Given the description of an element on the screen output the (x, y) to click on. 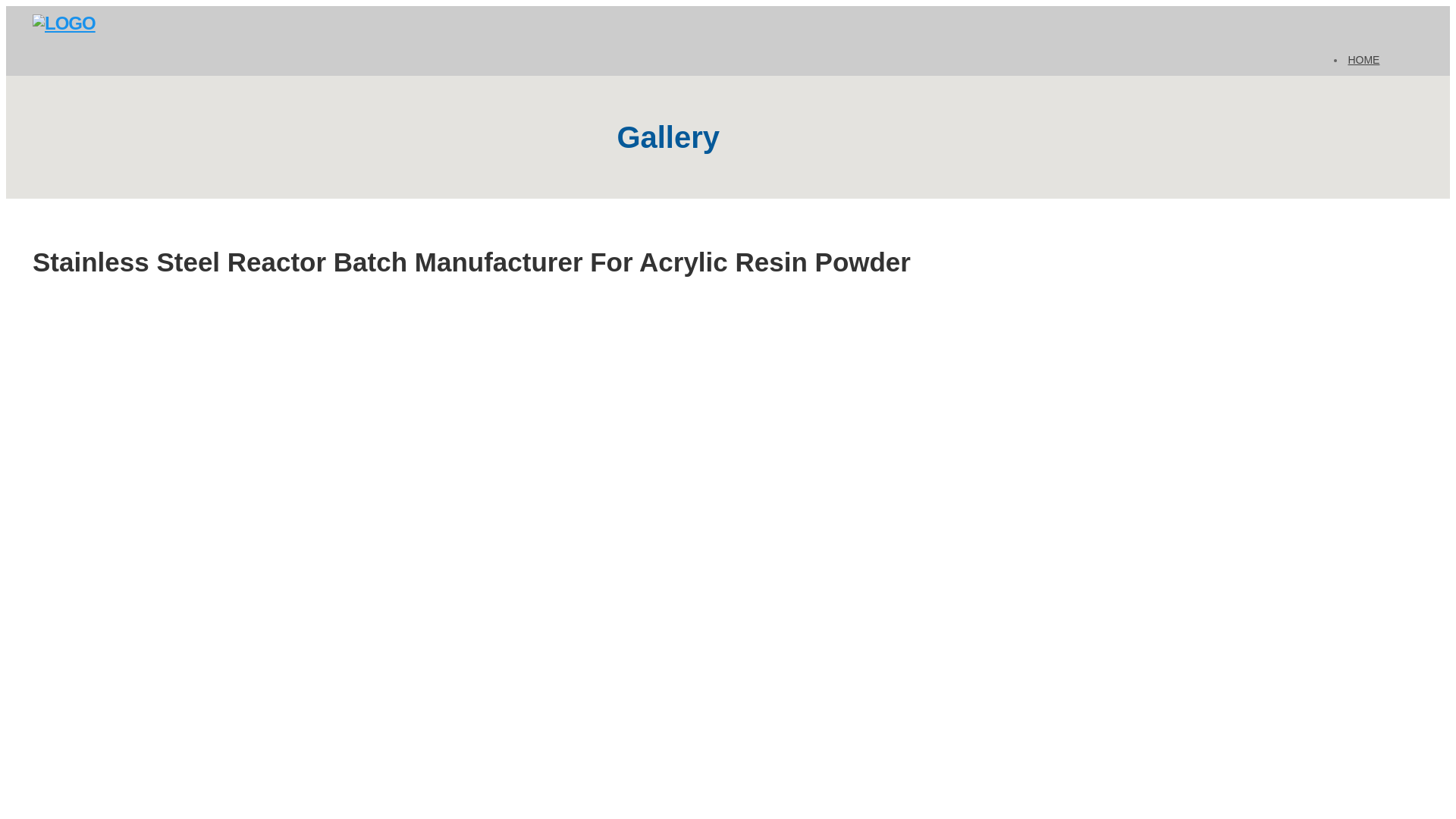
CONTACT (1372, 192)
HOME (1363, 60)
PRODUCTS (1376, 166)
ABOUT US (1374, 86)
GALLERY (1371, 139)
SERVICES (1374, 113)
